Given the description of an element on the screen output the (x, y) to click on. 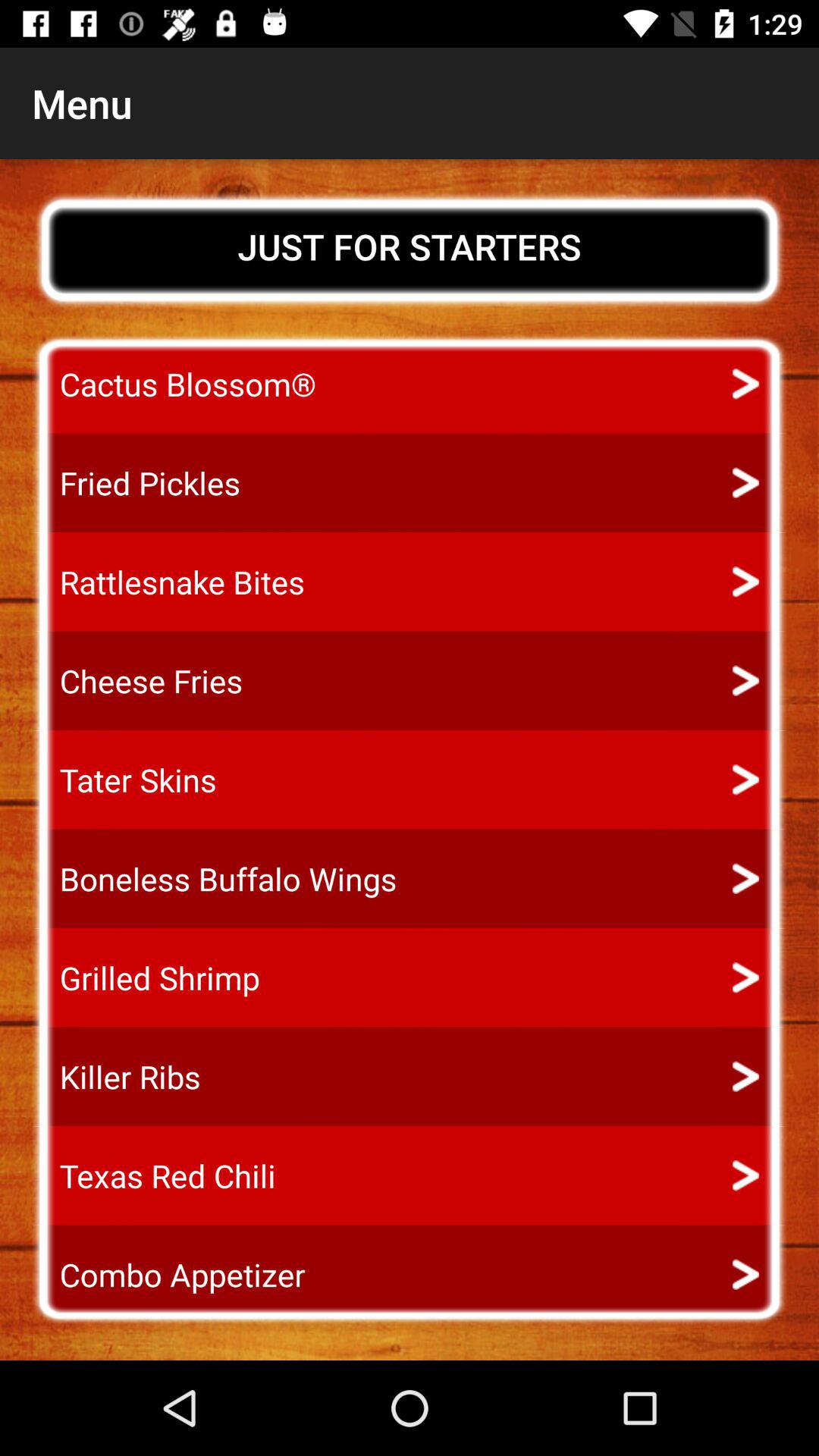
turn on icon above the cheese fries (167, 581)
